Given the description of an element on the screen output the (x, y) to click on. 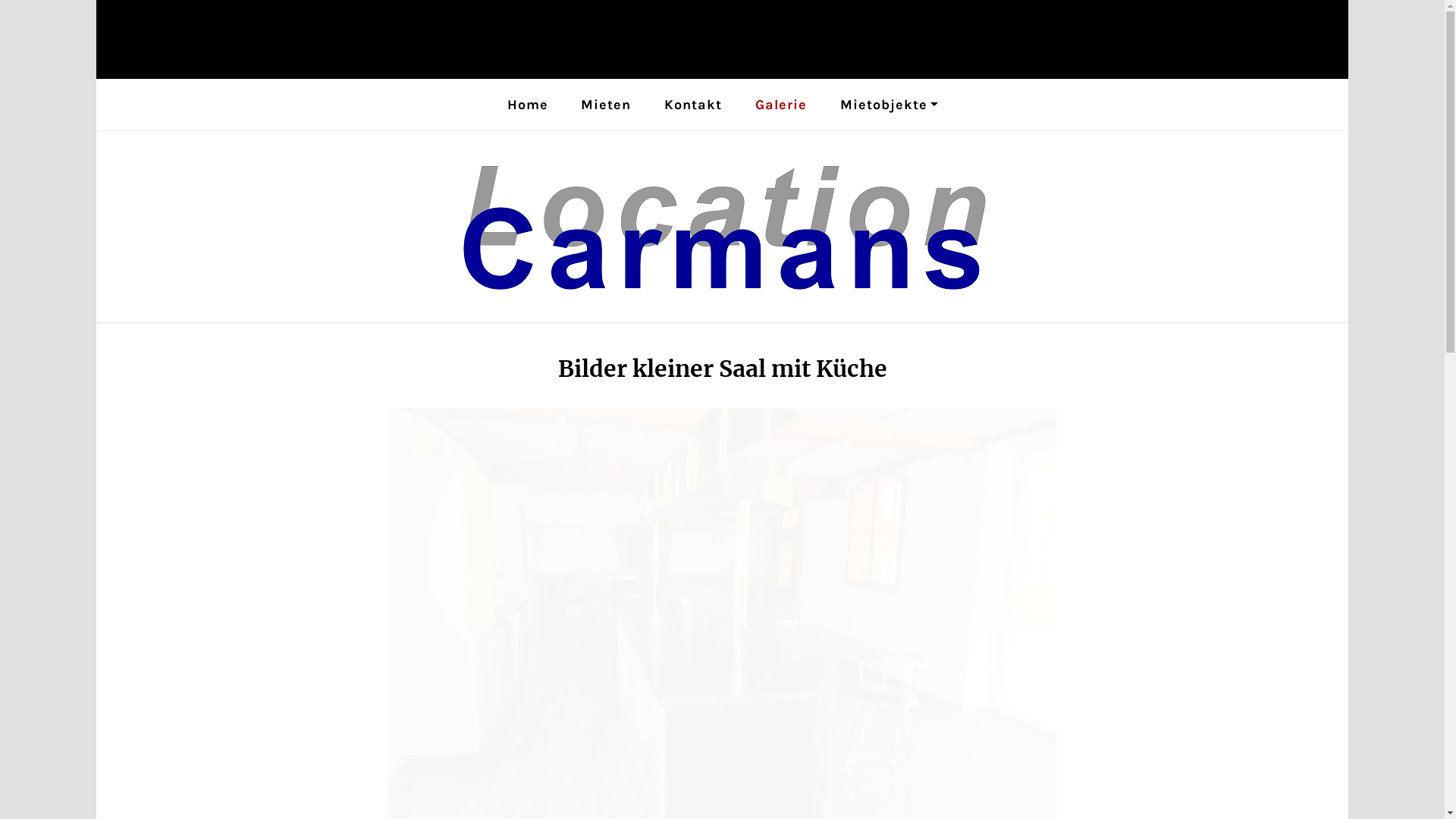
Kontakt Element type: text (693, 104)
Galerie Element type: text (781, 104)
Mieten Element type: text (605, 104)
Home Element type: text (526, 104)
